Given the description of an element on the screen output the (x, y) to click on. 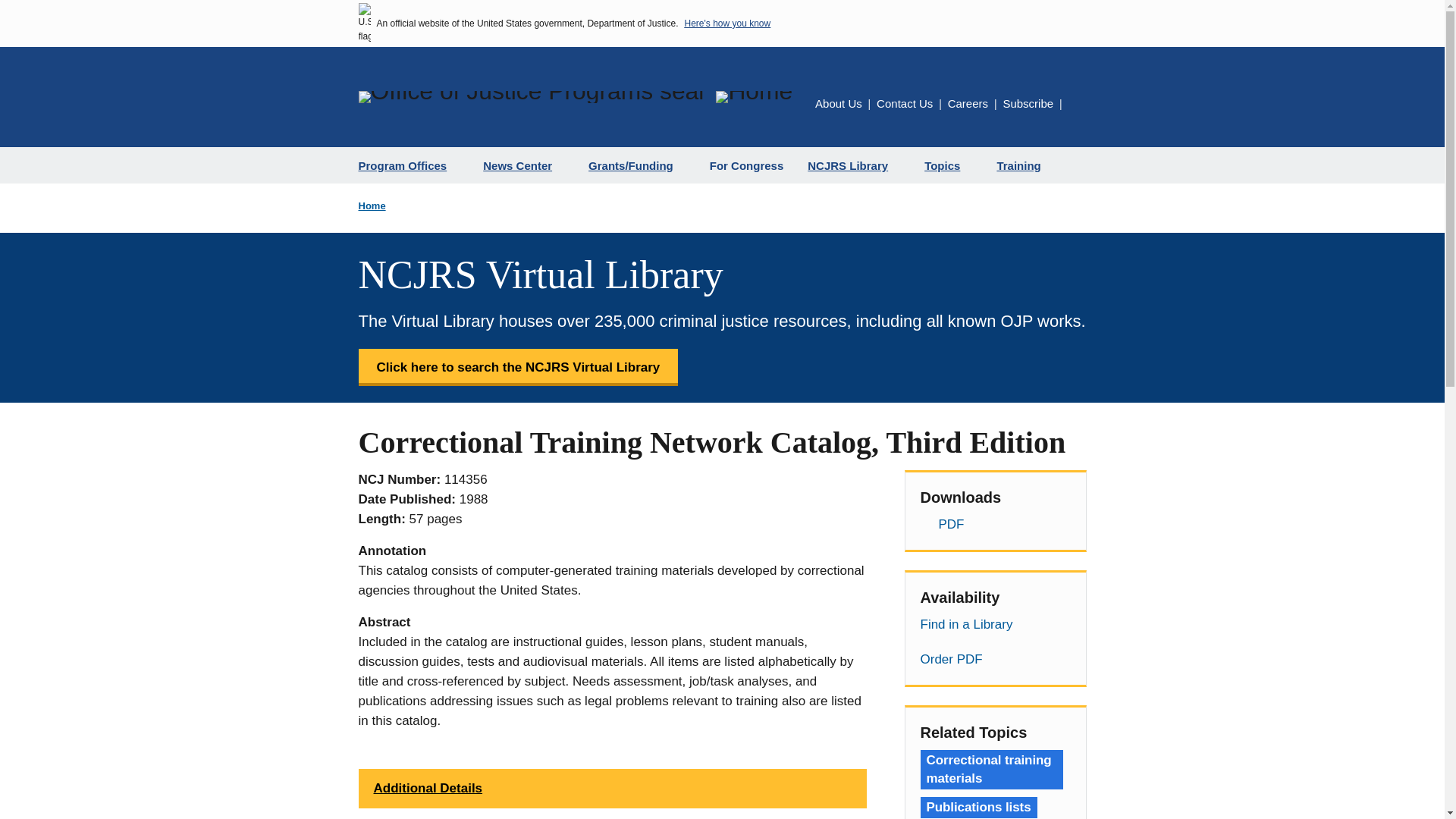
Contact Us (904, 103)
Home (754, 96)
Share (1076, 106)
Program Offices (408, 165)
Click here to search the NCJRS Virtual Library (518, 366)
Publications lists (978, 807)
Office of Justice Programs (530, 96)
PDF (995, 524)
News Center (523, 165)
